Given the description of an element on the screen output the (x, y) to click on. 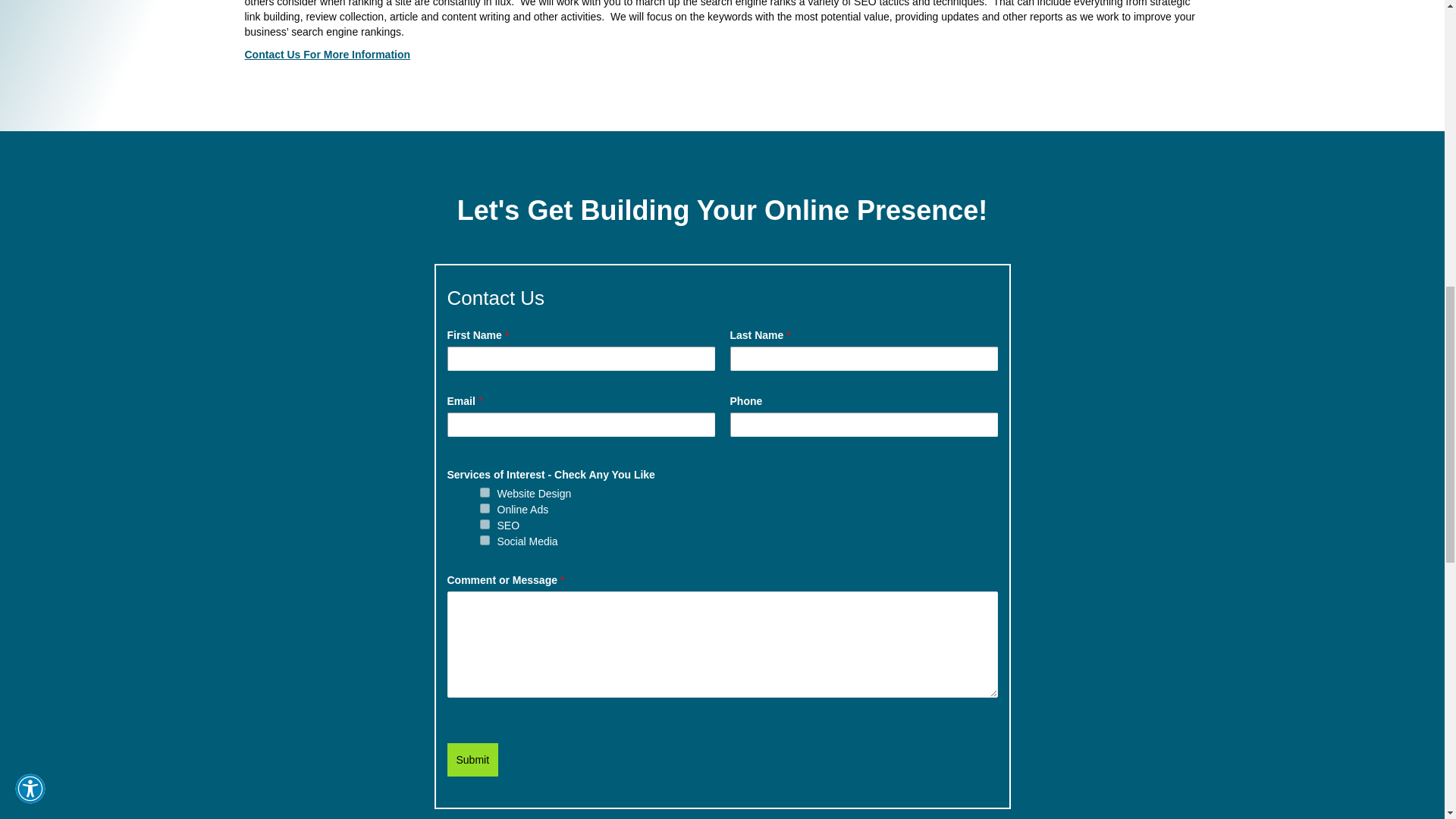
Submit (472, 759)
3 (484, 524)
1 (484, 492)
4 (484, 540)
Contact Us For More Information (327, 54)
2 (484, 508)
